Given the description of an element on the screen output the (x, y) to click on. 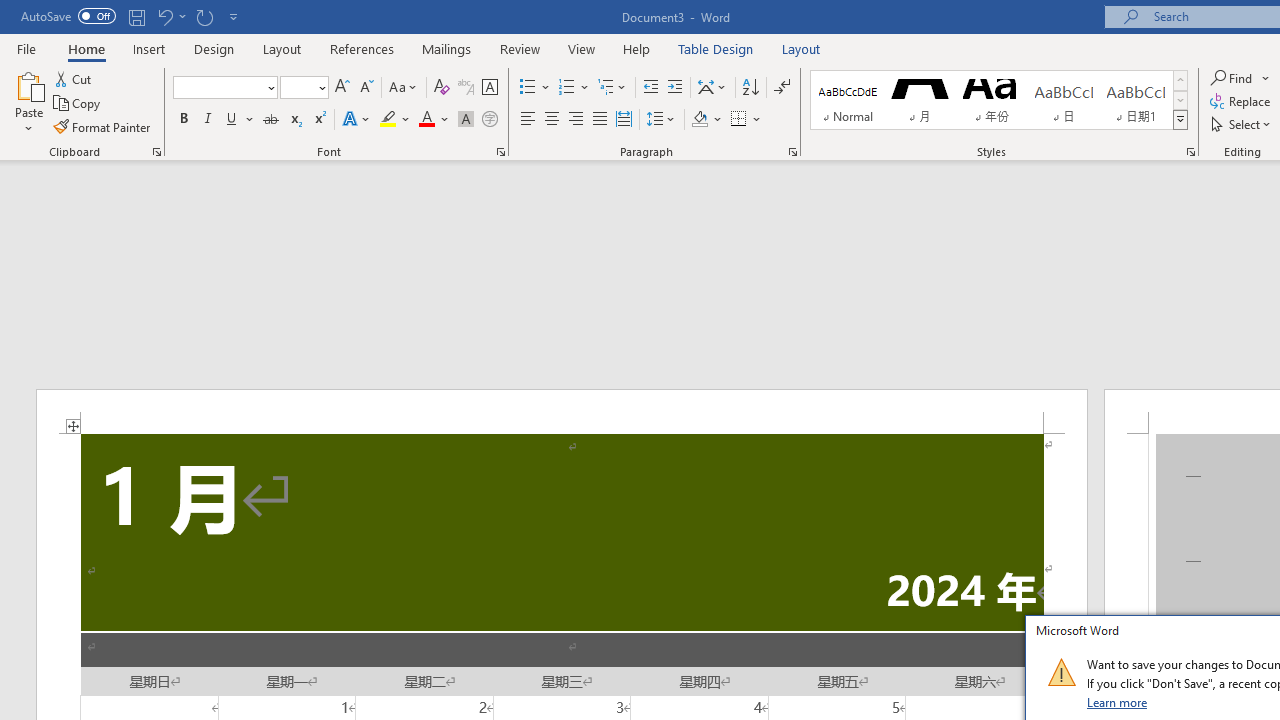
Customize Quick Access Toolbar (234, 15)
Quick Access Toolbar (131, 16)
Grow Font (342, 87)
Underline (239, 119)
Row Down (1179, 100)
Italic (207, 119)
Help (637, 48)
Strikethrough (270, 119)
Shrink Font (365, 87)
Show/Hide Editing Marks (781, 87)
Line and Paragraph Spacing (661, 119)
